Given the description of an element on the screen output the (x, y) to click on. 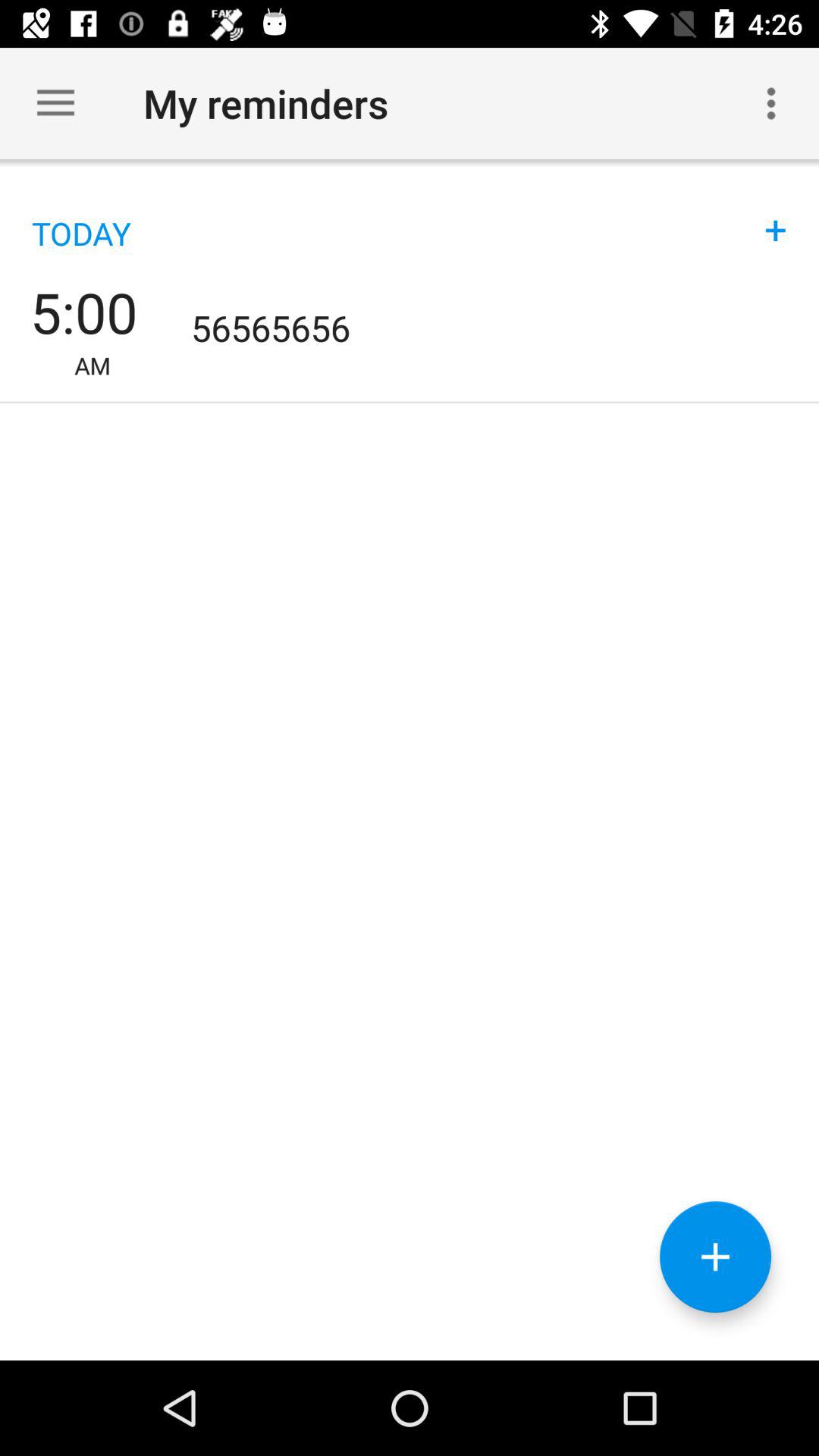
launch the icon next to the my reminders (771, 103)
